Given the description of an element on the screen output the (x, y) to click on. 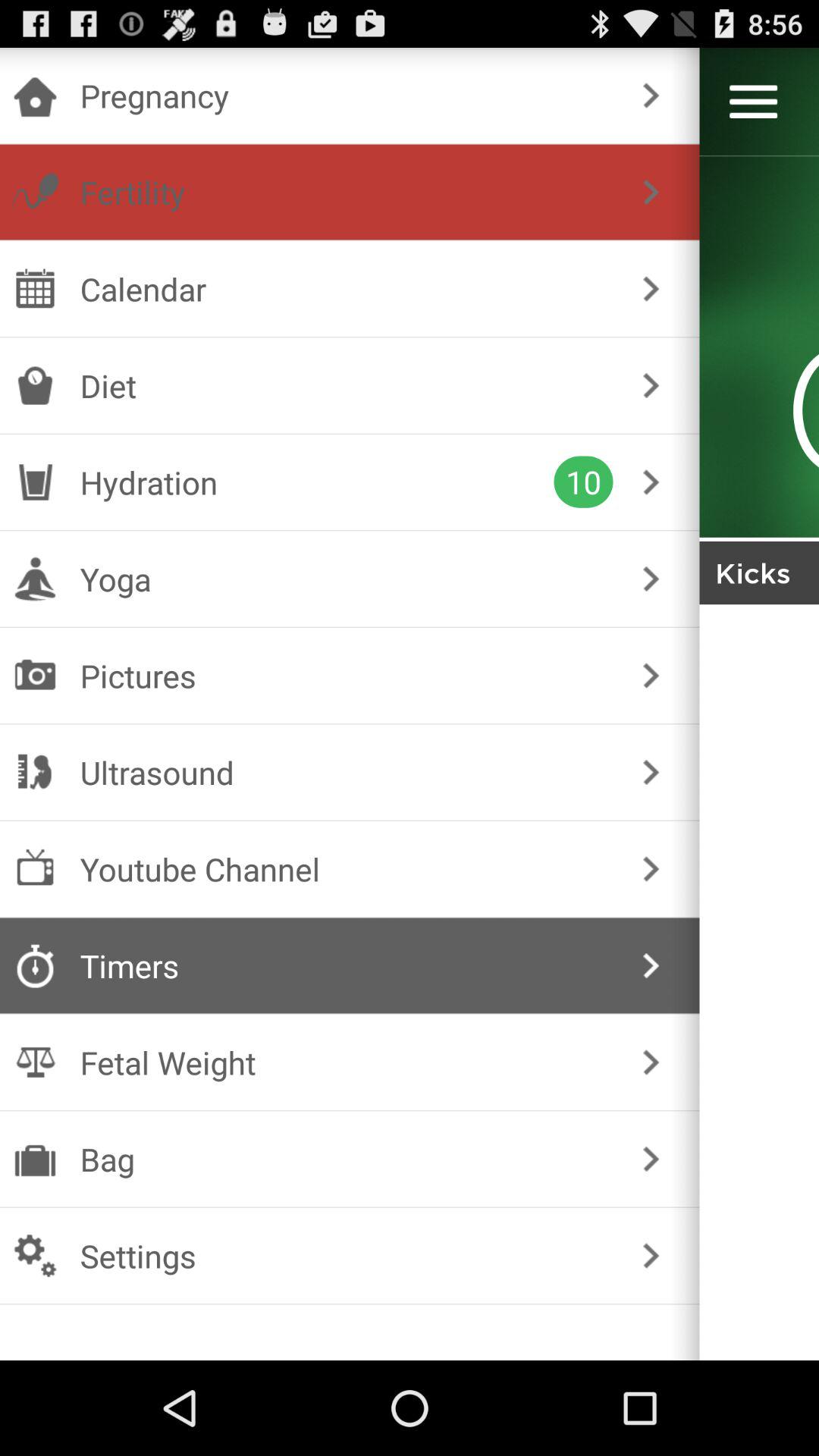
choose the icon to the right of the fetal weight checkbox (651, 1061)
